Given the description of an element on the screen output the (x, y) to click on. 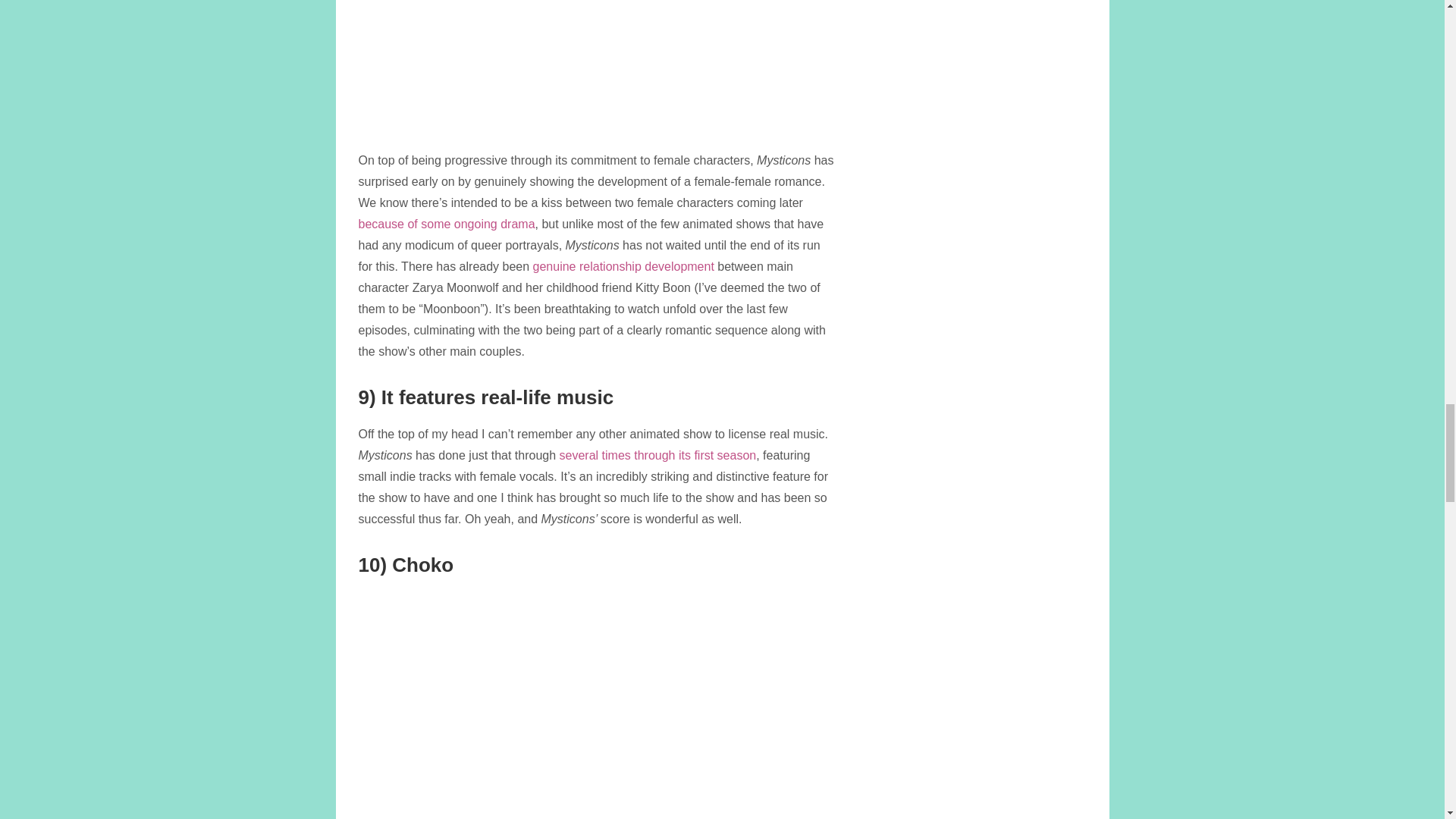
genuine relationship development (623, 266)
because of some ongoing drama (446, 223)
several times through its first season (658, 454)
